Given the description of an element on the screen output the (x, y) to click on. 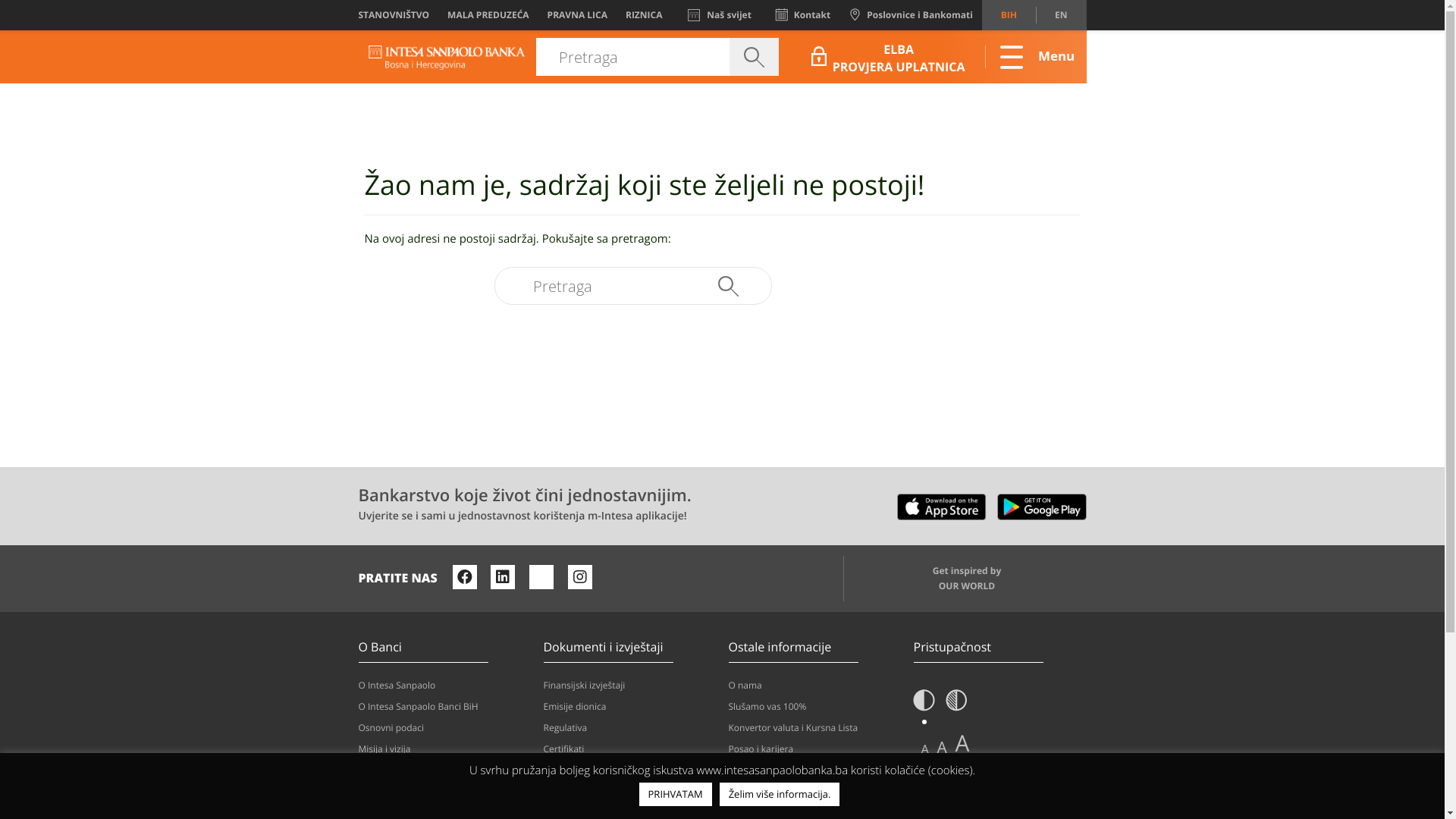
O Intesa Sanpaolo Element type: text (443, 685)
Emisije dionica Element type: text (628, 706)
Standard Contrast Element type: hover (923, 704)
Misija i vizija Element type: text (443, 748)
Historija Banke Element type: text (443, 791)
RIZNICA Element type: text (643, 15)
fa-youtube-play Element type: text (541, 576)
Intesa Sanpaolo Banka Element type: hover (446, 56)
High Contrast Element type: hover (956, 704)
BIH Element type: text (1008, 15)
Search Element type: hover (753, 56)
Novosti Intesa Sanpaolo Element type: text (814, 791)
Intesa Sanpaolo BiH Element type: hover (446, 57)
fa-facebook Element type: text (464, 576)
fa-instagram Element type: text (579, 576)
fa-linkedin Element type: text (502, 576)
App store link Element type: hover (941, 503)
PRIHVATAM Element type: text (675, 794)
Regulativa Element type: text (628, 727)
Kontakt Element type: text (802, 15)
A Element type: text (962, 743)
FATCA (Foreign Account Tax Compliance Act) Element type: text (628, 776)
ELBA
PROVJERA UPLATNICA Element type: text (890, 55)
O nama Element type: text (814, 685)
Google play link Element type: hover (1040, 503)
Osnovni podaci Element type: text (443, 727)
Konvertor valuta i Kursna Lista Element type: text (814, 727)
Posao i karijera Element type: text (814, 748)
O Intesa Sanpaolo Banci BiH Element type: text (443, 706)
A Element type: text (942, 747)
Organi Banke Element type: text (443, 770)
EN Element type: text (1060, 15)
Get inspired by
OUR WORLD Element type: text (964, 578)
Poslovnice i Bankomati Element type: text (910, 15)
Search Element type: hover (728, 285)
Certifikati Element type: text (628, 748)
A Element type: text (924, 749)
PRAVNA LICA Element type: text (577, 15)
Menu Element type: text (1028, 56)
